Given the description of an element on the screen output the (x, y) to click on. 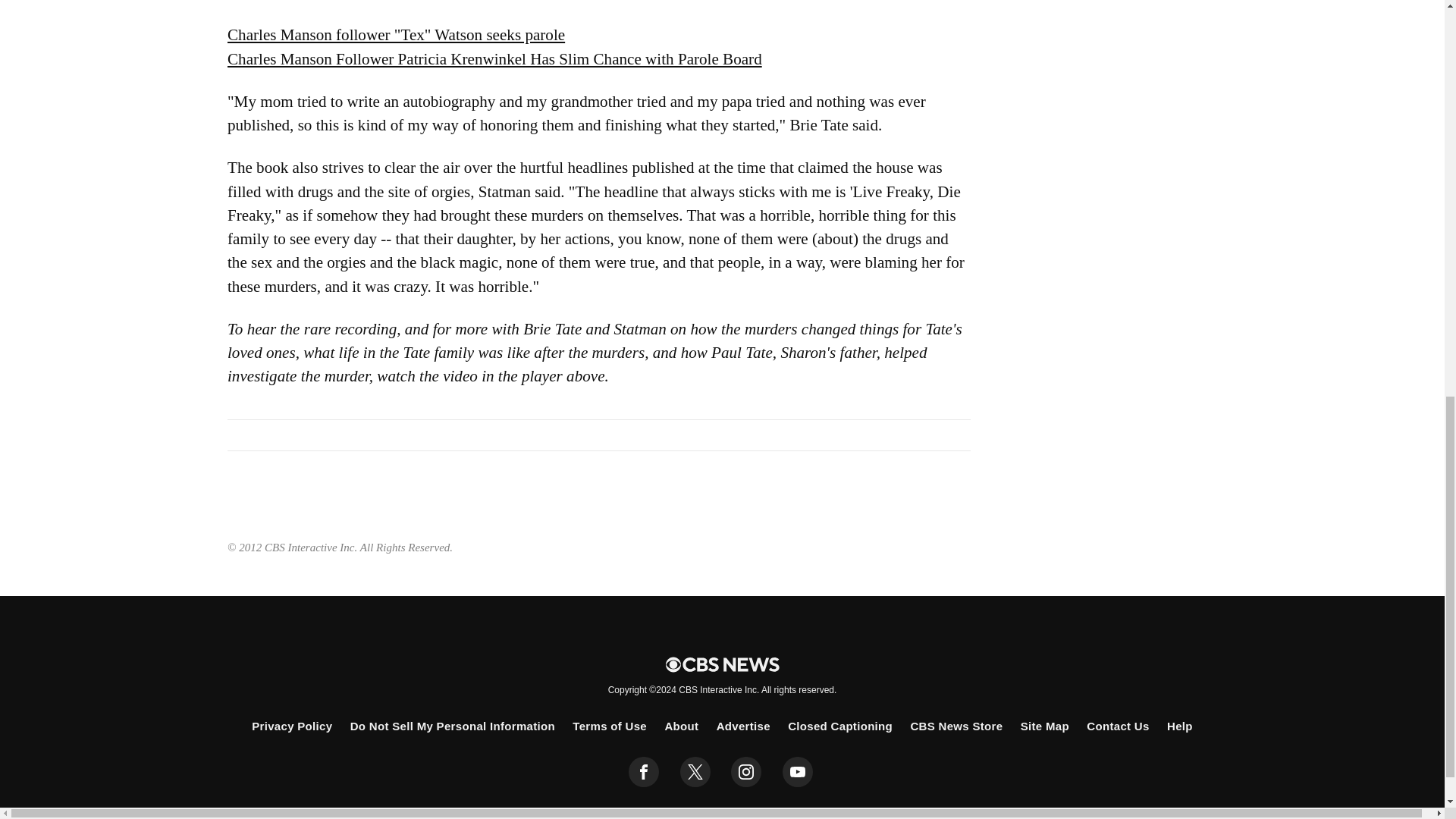
twitter (694, 771)
instagram (745, 771)
youtube (797, 771)
facebook (643, 771)
